Given the description of an element on the screen output the (x, y) to click on. 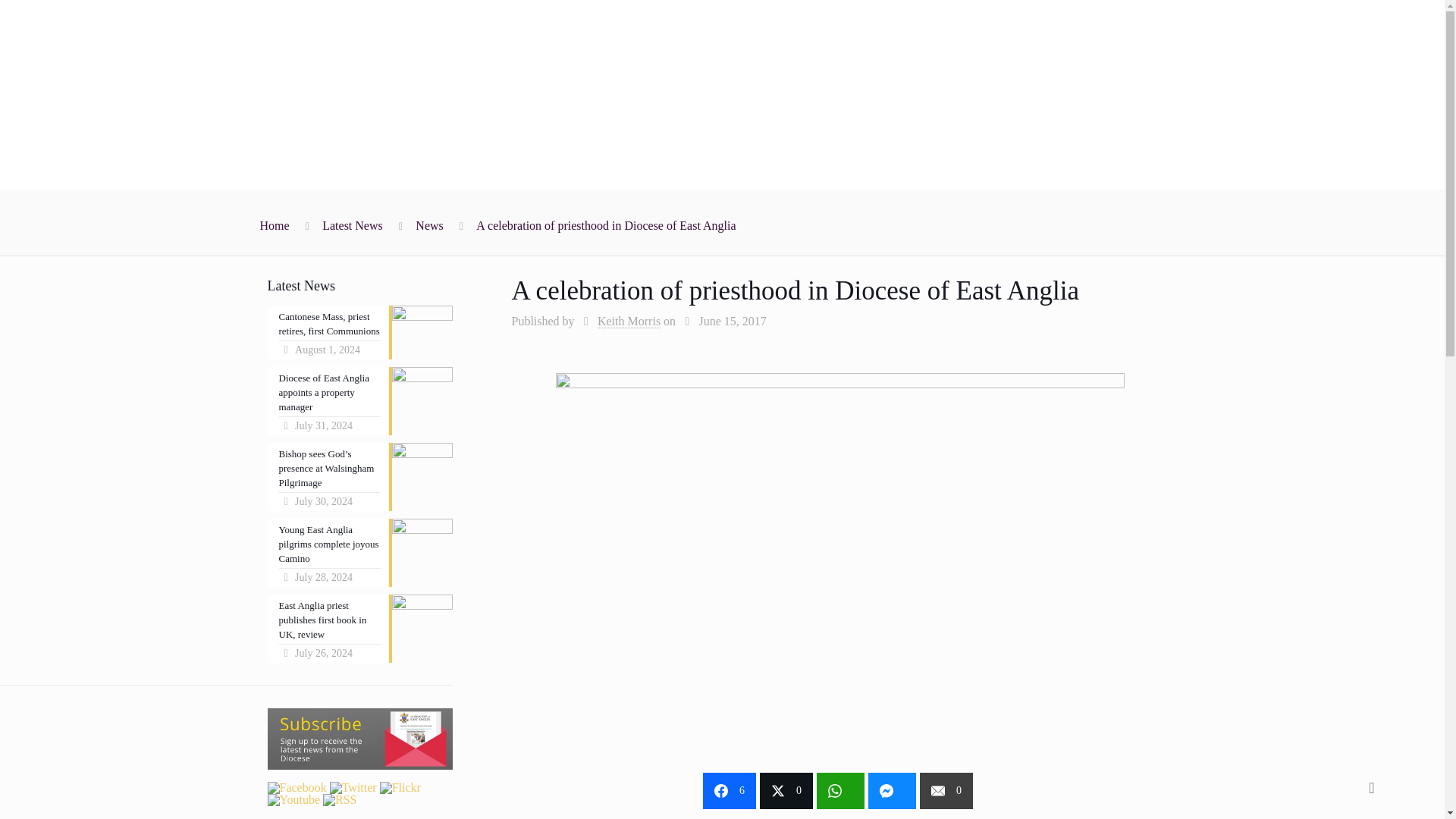
Share on Twitter (786, 791)
Share on WhatsApp (840, 791)
Share on Facebook Messenger (891, 791)
Share on Email (946, 791)
Share on Facebook (729, 791)
